Given the description of an element on the screen output the (x, y) to click on. 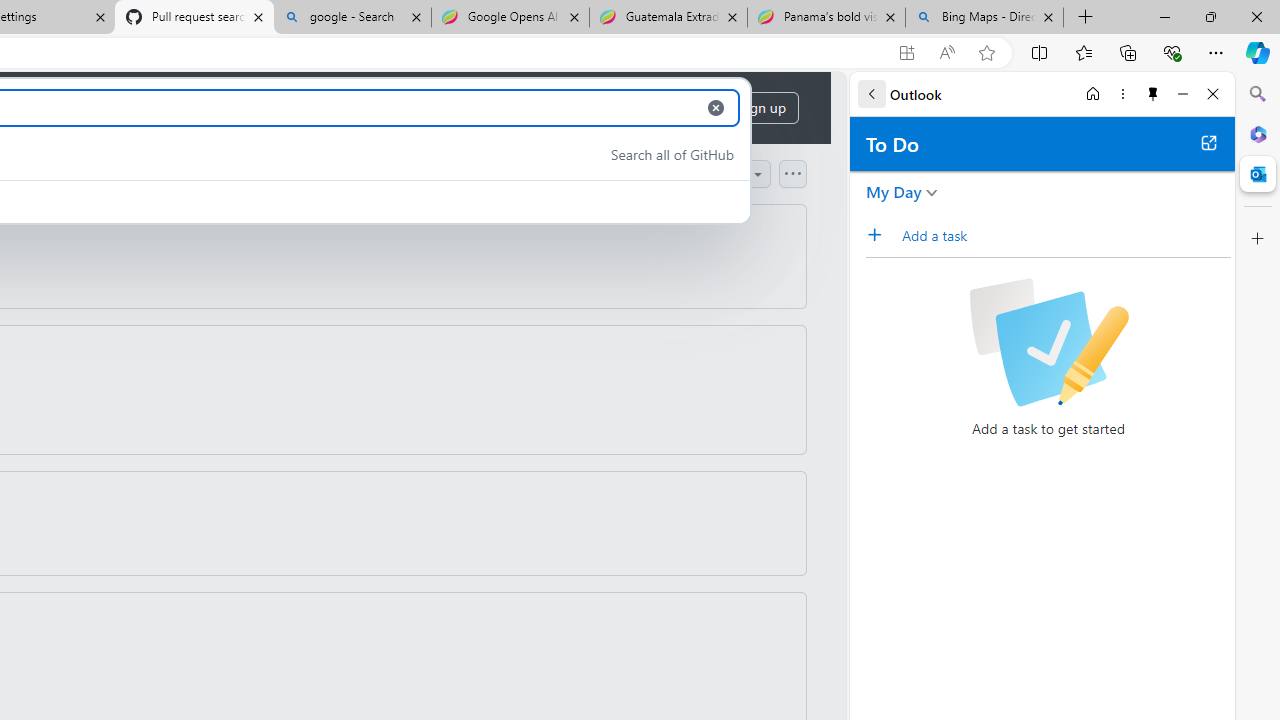
Add a task (1065, 235)
Open column options (792, 173)
